Given the description of an element on the screen output the (x, y) to click on. 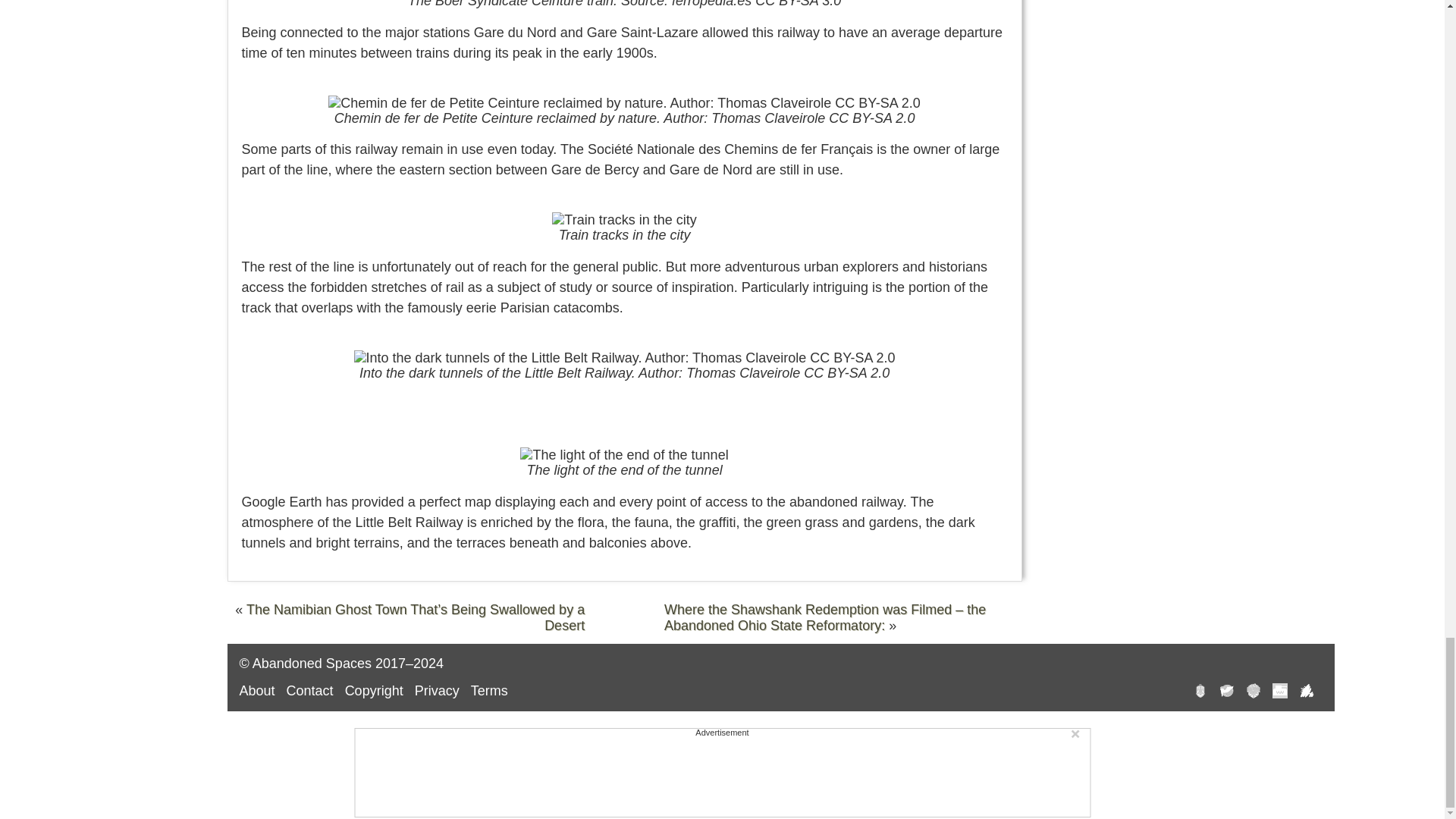
Privacy (437, 690)
Terms (489, 690)
Copyright (374, 690)
Contact (309, 690)
About (257, 690)
